Given the description of an element on the screen output the (x, y) to click on. 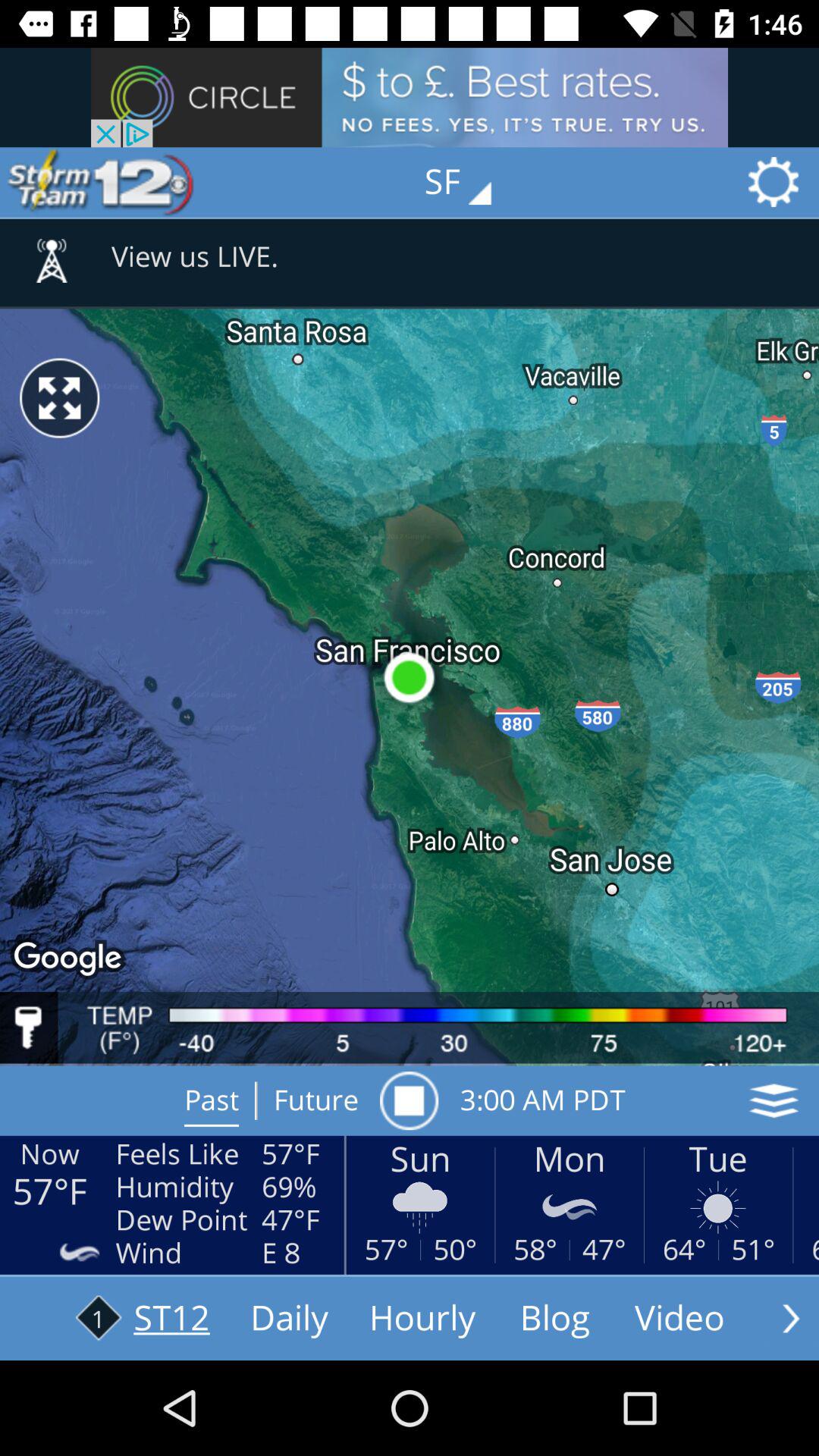
press item to the left of 4 00 am icon (409, 1100)
